Given the description of an element on the screen output the (x, y) to click on. 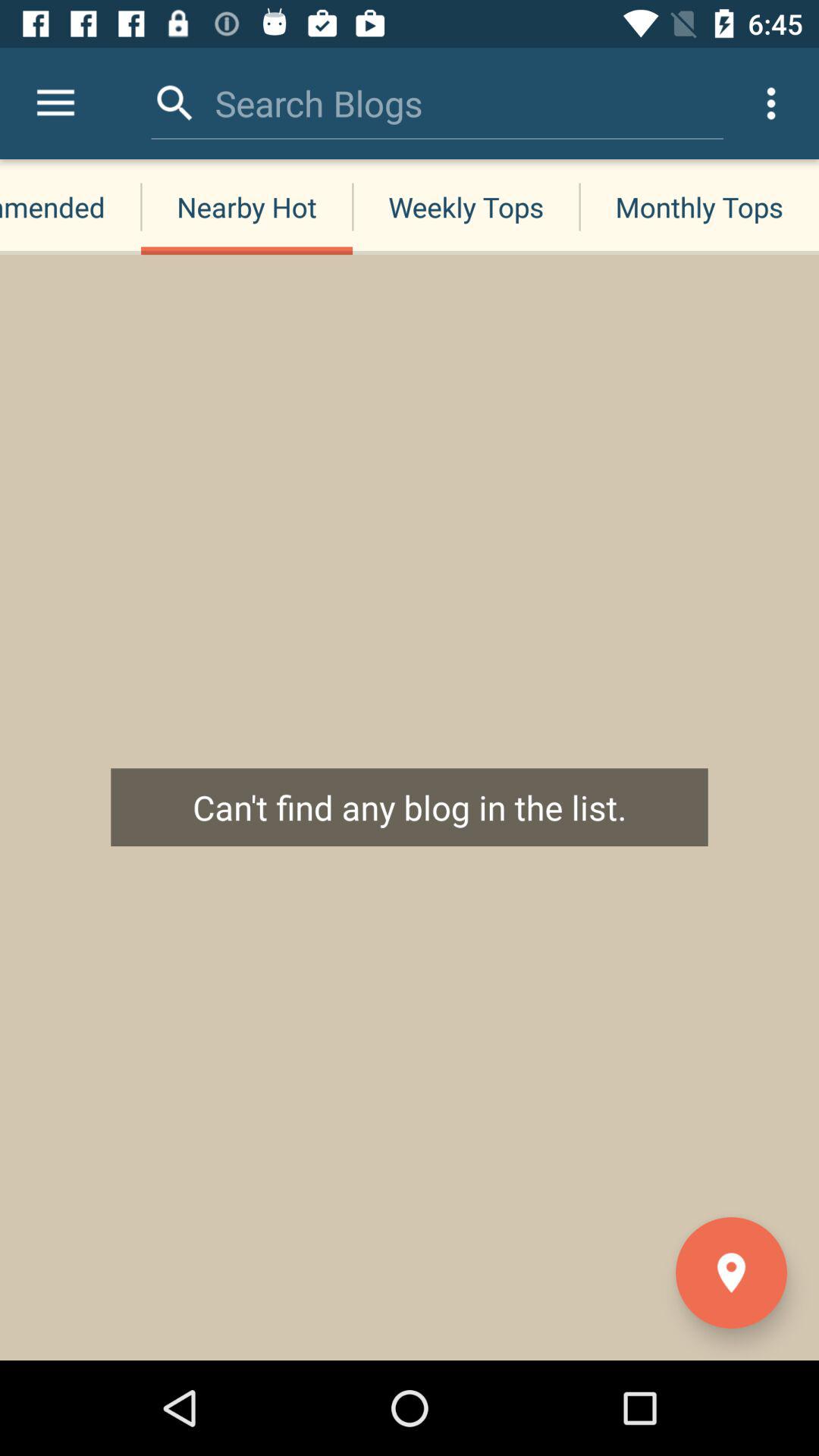
turn off the item to the left of the monthly tops item (465, 206)
